Given the description of an element on the screen output the (x, y) to click on. 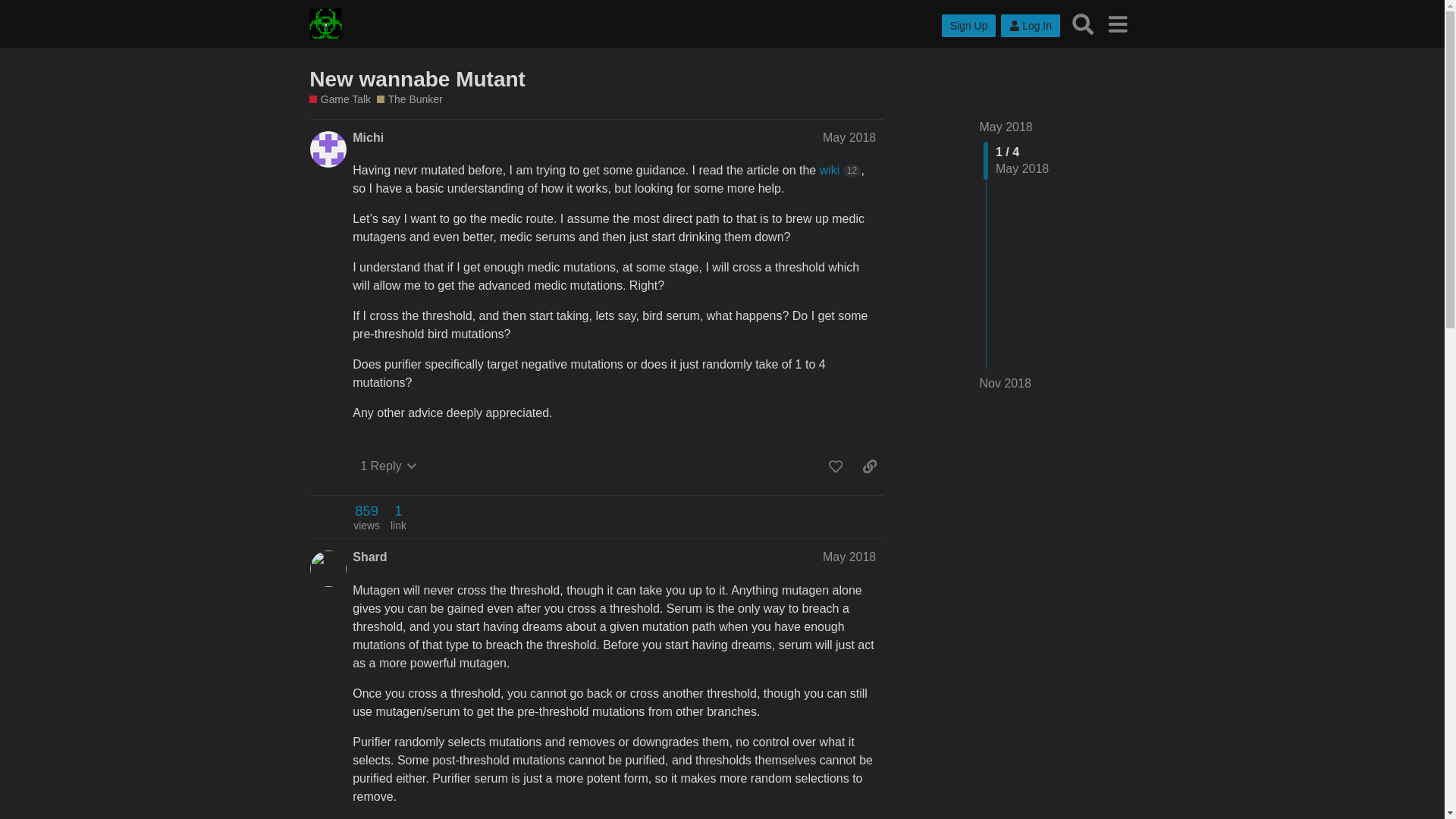
May 2018 (849, 137)
Jump to the first post (1005, 126)
Michi (368, 137)
like this post (835, 466)
Nov 2018 (1005, 383)
1 Reply (387, 465)
Shard (369, 556)
wiki 12 (840, 169)
copy a link to this post to clipboard (869, 466)
